Given the description of an element on the screen output the (x, y) to click on. 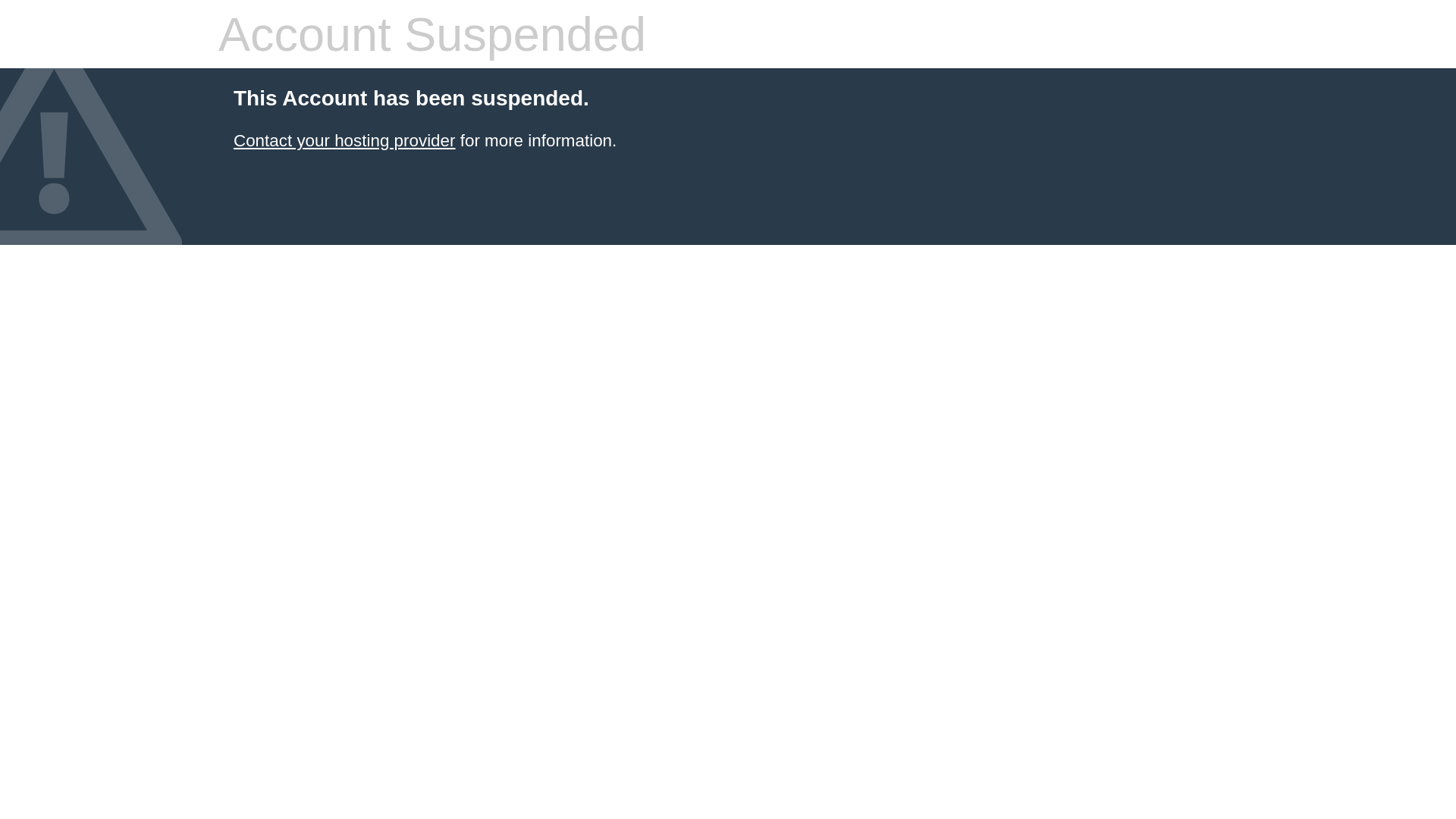
Contact your hosting provider Element type: text (344, 140)
